Given the description of an element on the screen output the (x, y) to click on. 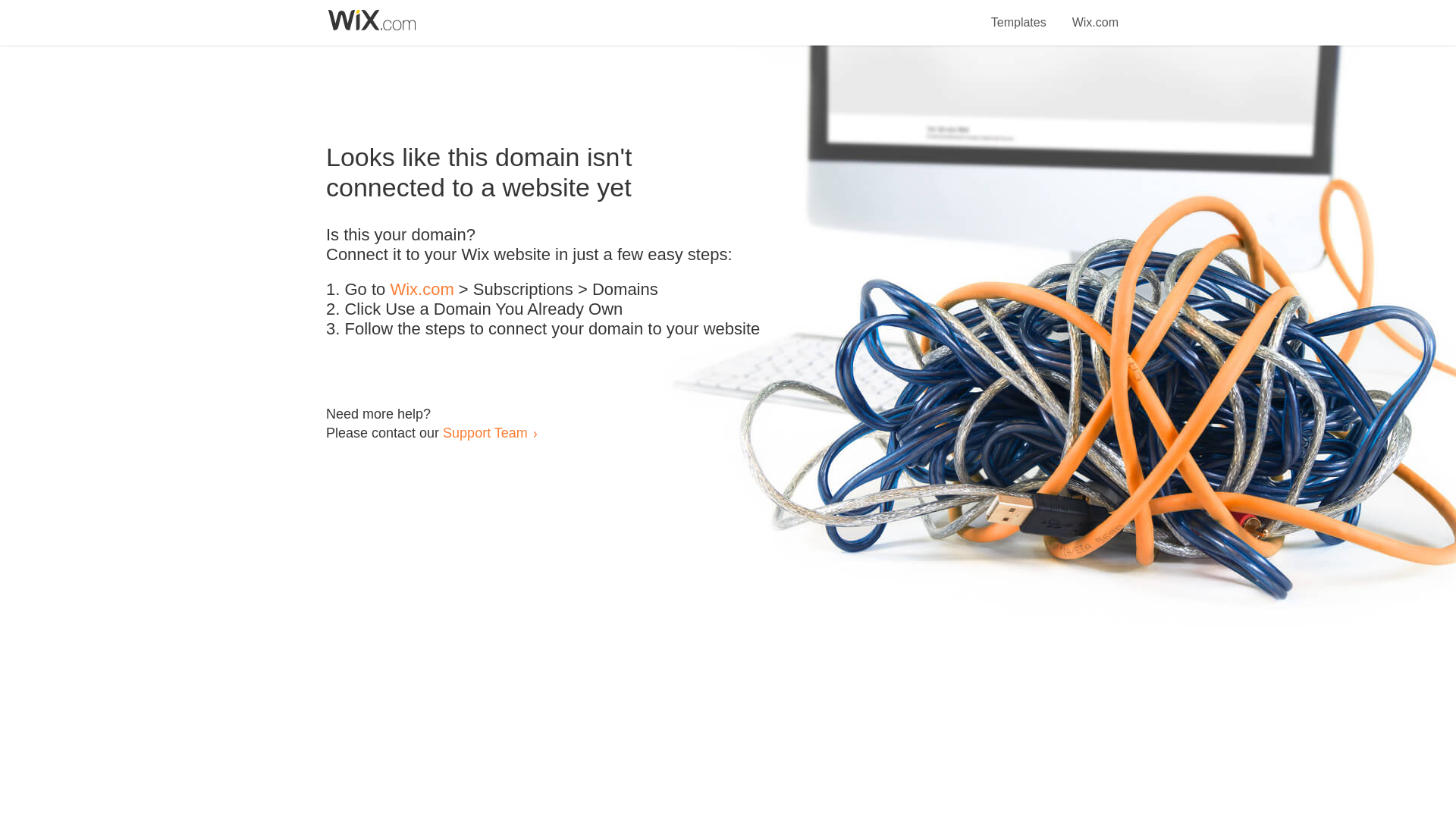
Wix.com (1095, 14)
Wix.com (421, 289)
Templates (1018, 14)
Support Team (484, 432)
